Given the description of an element on the screen output the (x, y) to click on. 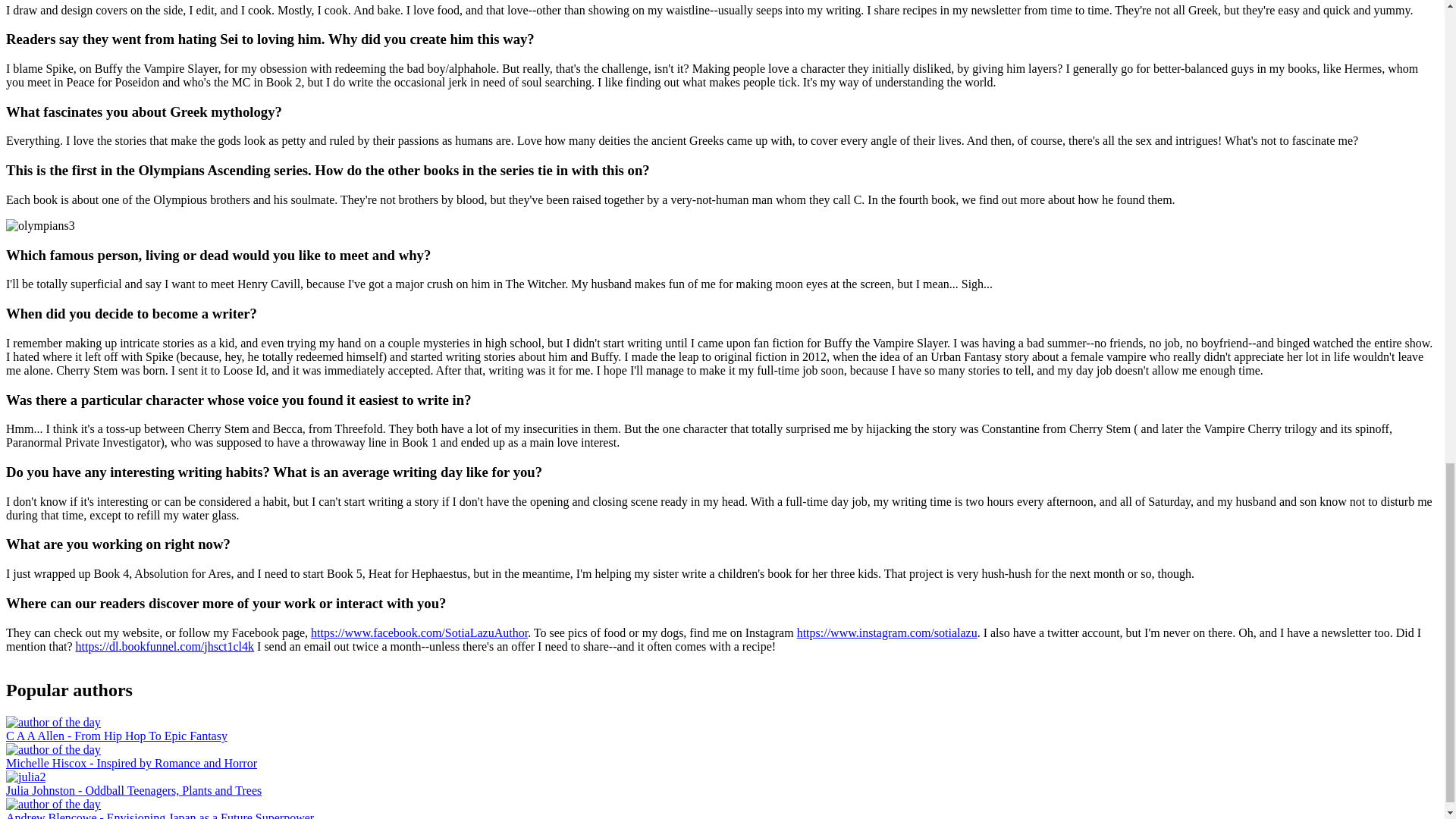
C A A Allen - From Hip Hop To Epic Fantasy (116, 735)
Michelle Hiscox - Inspired by Romance and Horror (131, 762)
Julia Johnston - Oddball Teenagers, Plants and Trees (133, 789)
